Given the description of an element on the screen output the (x, y) to click on. 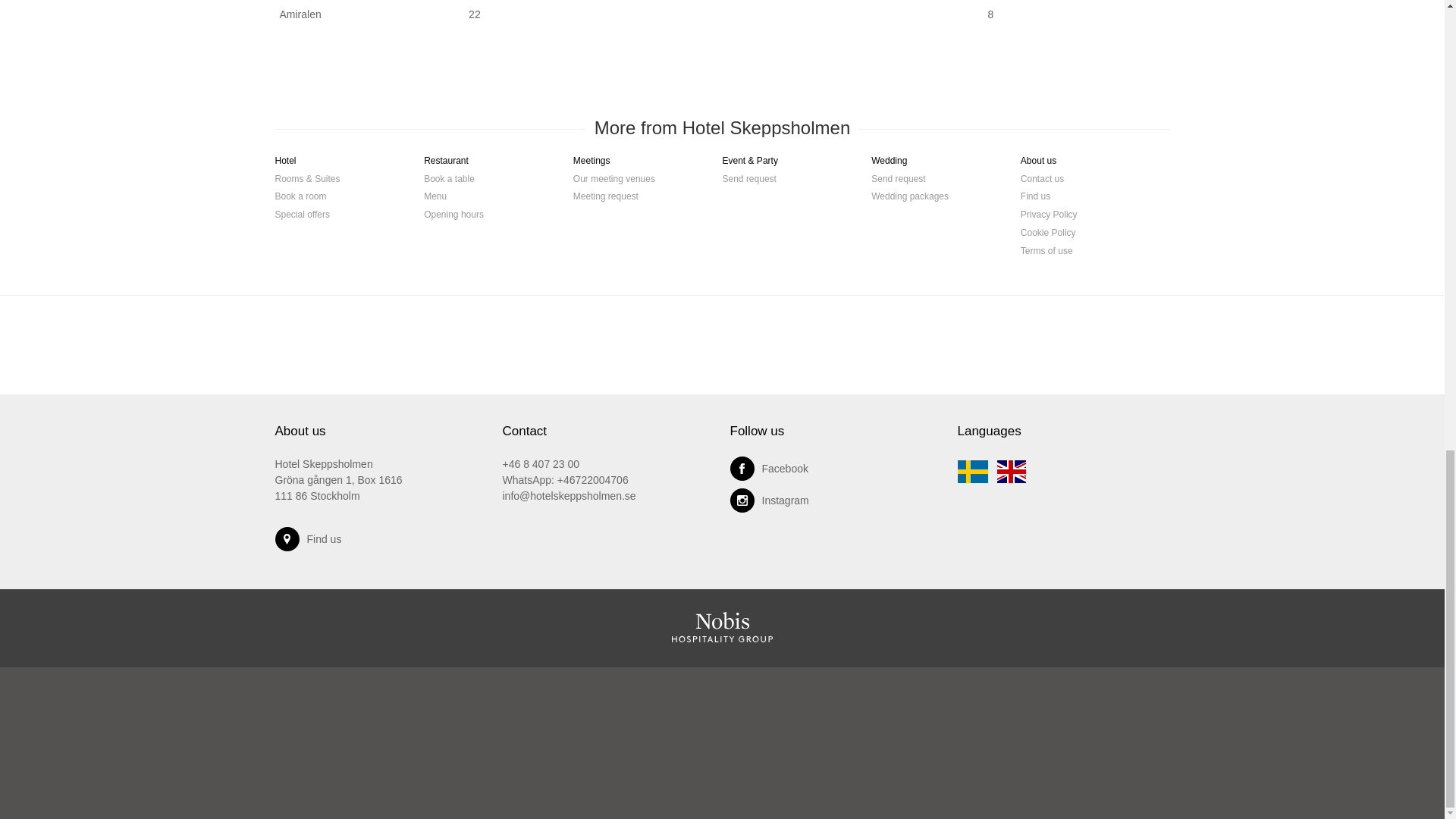
Book a table (448, 183)
Meeting request (606, 200)
Wedding (888, 165)
Menu (434, 200)
Send request (749, 183)
Our meeting venues (614, 183)
Hotel (285, 165)
Special offers (302, 218)
Meetings (591, 165)
Restaurant (445, 165)
